Given the description of an element on the screen output the (x, y) to click on. 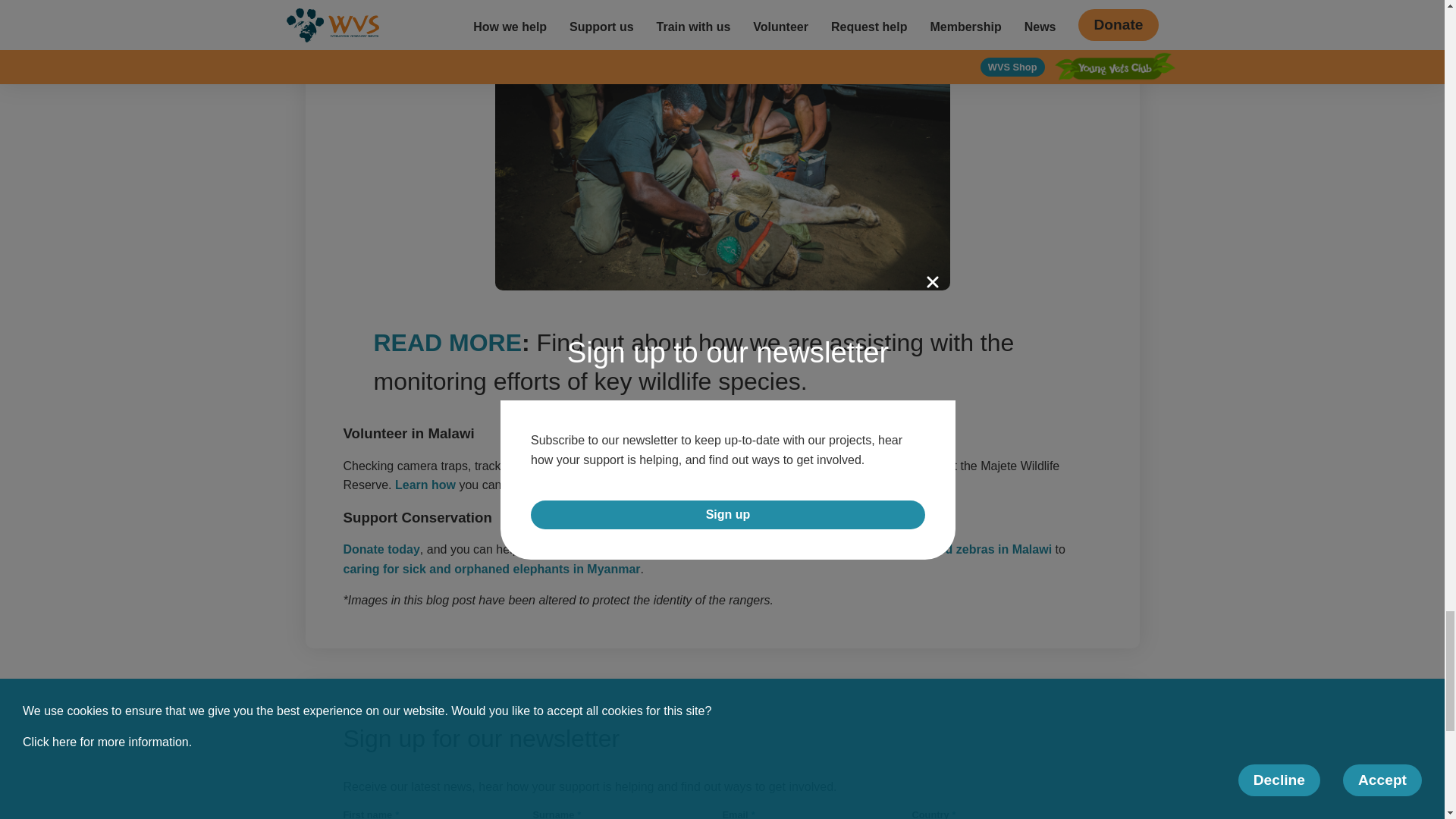
caring for sick and orphaned elephants in Myanmar (491, 568)
READ MORE (446, 342)
treating injured zebras in Malawi (957, 549)
Donate today (380, 549)
Learn how (424, 484)
